Given the description of an element on the screen output the (x, y) to click on. 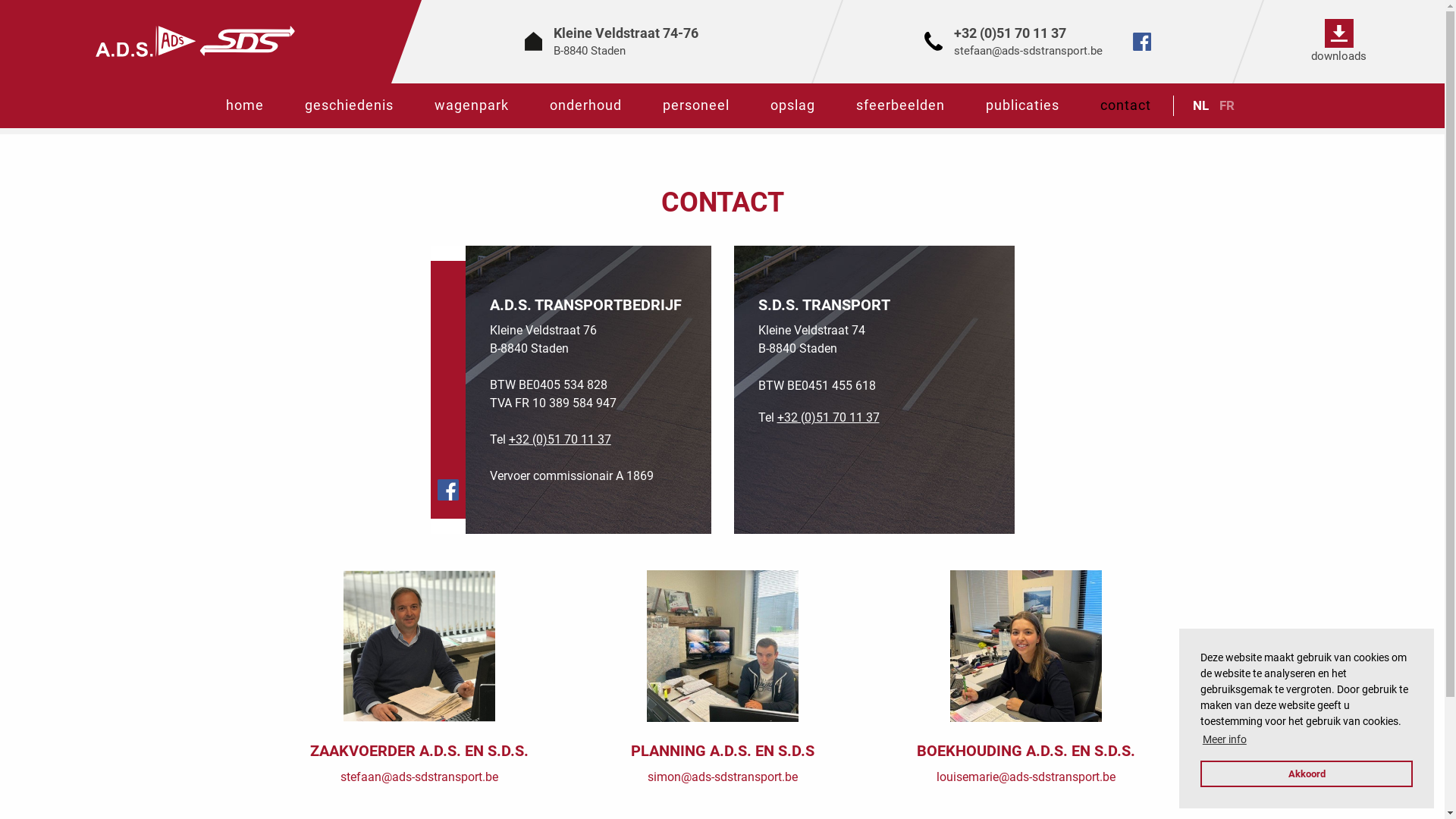
opslag Element type: text (791, 105)
home Element type: text (244, 105)
downloads Element type: text (1339, 45)
+32 (0)51 70 11 37 Element type: text (827, 417)
NL Element type: text (1200, 105)
Akkoord Element type: text (1306, 773)
publicaties Element type: text (1021, 105)
Meer info Element type: text (1224, 739)
+32 (0)51 70 11 37 Element type: text (559, 439)
onderhoud Element type: text (585, 105)
FR Element type: text (1225, 105)
louisemarie@ads-sdstransport.be Element type: text (1024, 776)
stefaan@ads-sdstransport.be Element type: text (418, 776)
contact Element type: text (1125, 105)
wagenpark Element type: text (471, 105)
simon@ads-sdstransport.be Element type: text (722, 776)
sfeerbeelden Element type: text (900, 105)
+32 (0)51 70 11 37 Element type: text (1009, 32)
personeel Element type: text (695, 105)
geschiedenis Element type: text (348, 105)
